Given the description of an element on the screen output the (x, y) to click on. 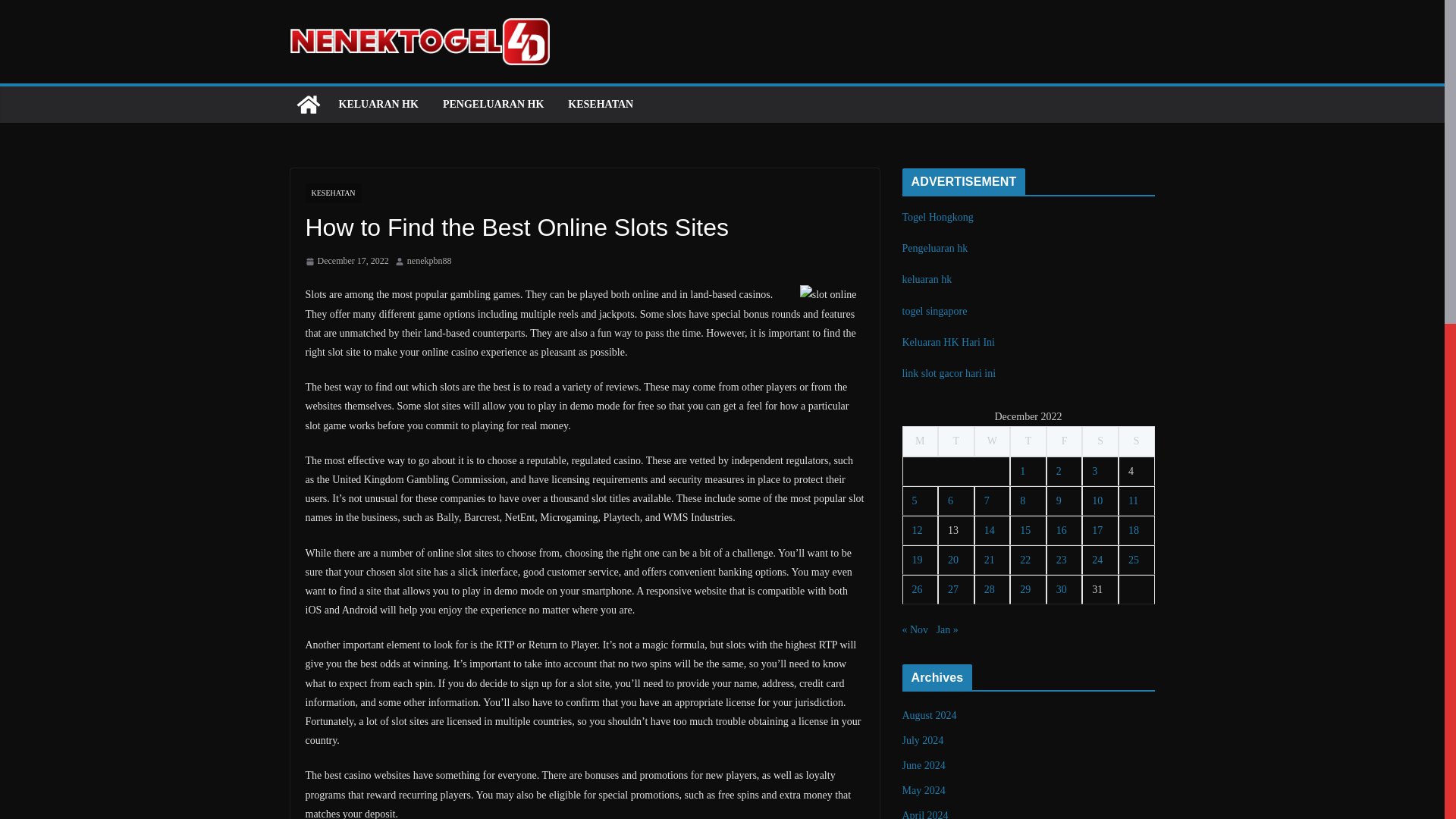
14 (989, 530)
link slot gacor hari ini (948, 373)
keluaran hk (927, 279)
KELUARAN HK (377, 104)
Keluaran HK Hari Ini (948, 342)
KESEHATAN (600, 104)
24 (1097, 559)
22 (1025, 559)
19 (916, 559)
Tuesday (955, 440)
